Given the description of an element on the screen output the (x, y) to click on. 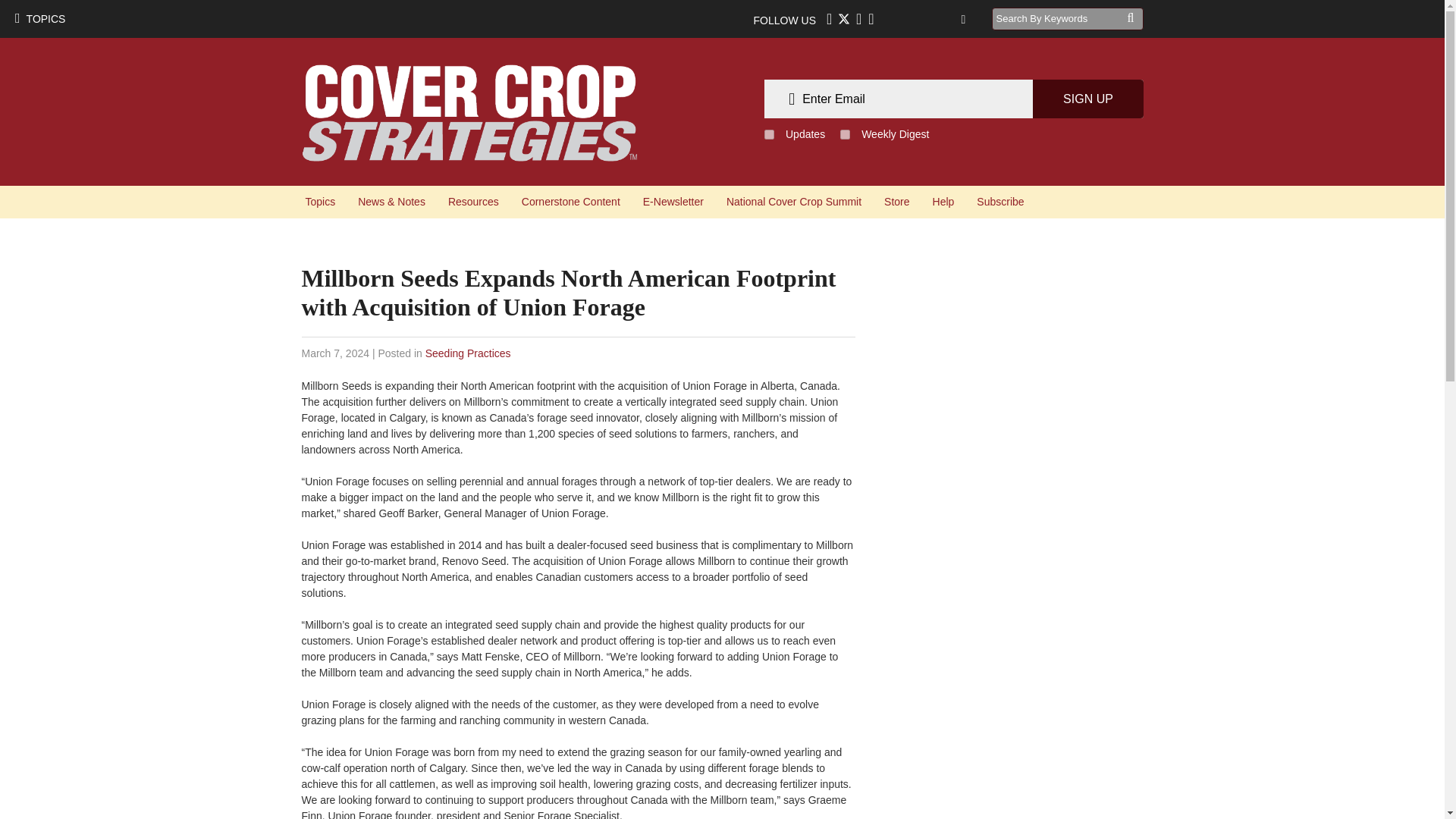
TOPICS (39, 18)
1 (845, 134)
Resources (473, 201)
Search By Keywords (1058, 18)
1 (769, 134)
Search By Keywords (1058, 18)
SIGN UP (1087, 98)
Topics (320, 201)
